Given the description of an element on the screen output the (x, y) to click on. 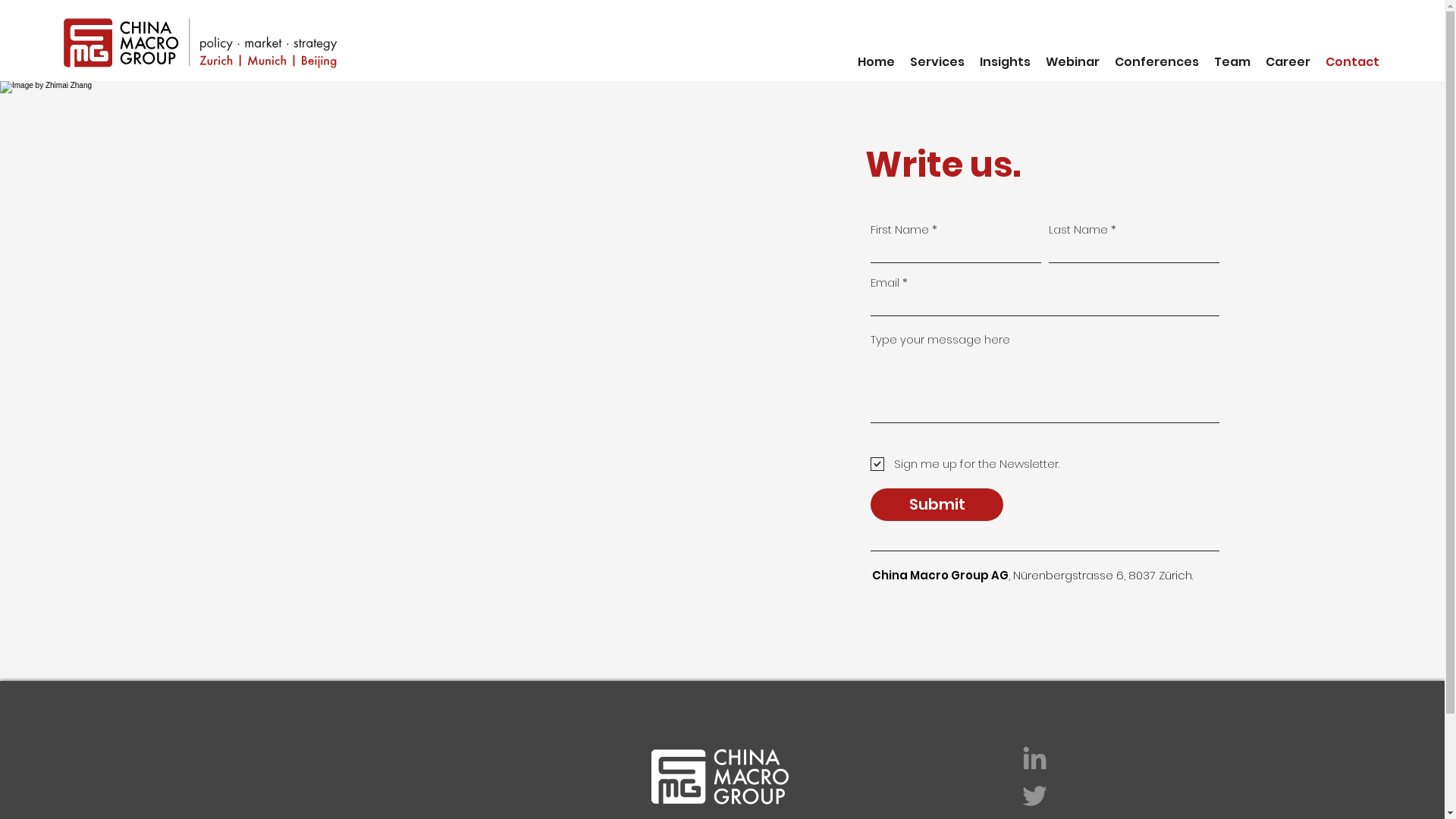
Home Element type: text (876, 61)
Contact Element type: text (1351, 61)
Conferences Element type: text (1156, 61)
Submit Element type: text (936, 504)
Insights Element type: text (1005, 61)
Webinar Element type: text (1072, 61)
Team Element type: text (1232, 61)
Services Element type: text (937, 61)
Career Element type: text (1287, 61)
